Given the description of an element on the screen output the (x, y) to click on. 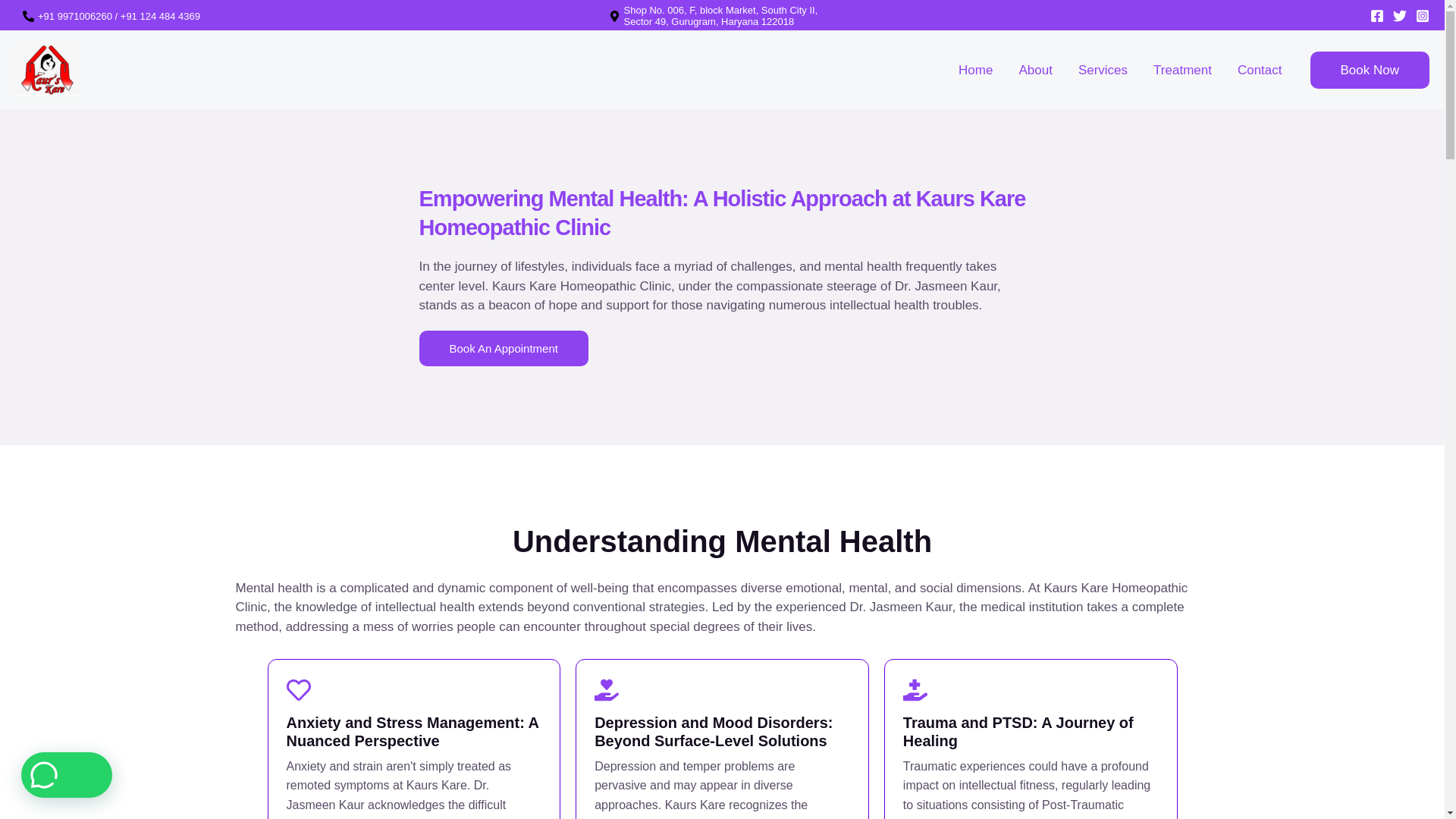
Home (975, 70)
Book Now (1369, 69)
About (1035, 70)
Treatment (1182, 70)
Contact (1259, 70)
Book An Appointment (503, 348)
Services (1102, 70)
